Given the description of an element on the screen output the (x, y) to click on. 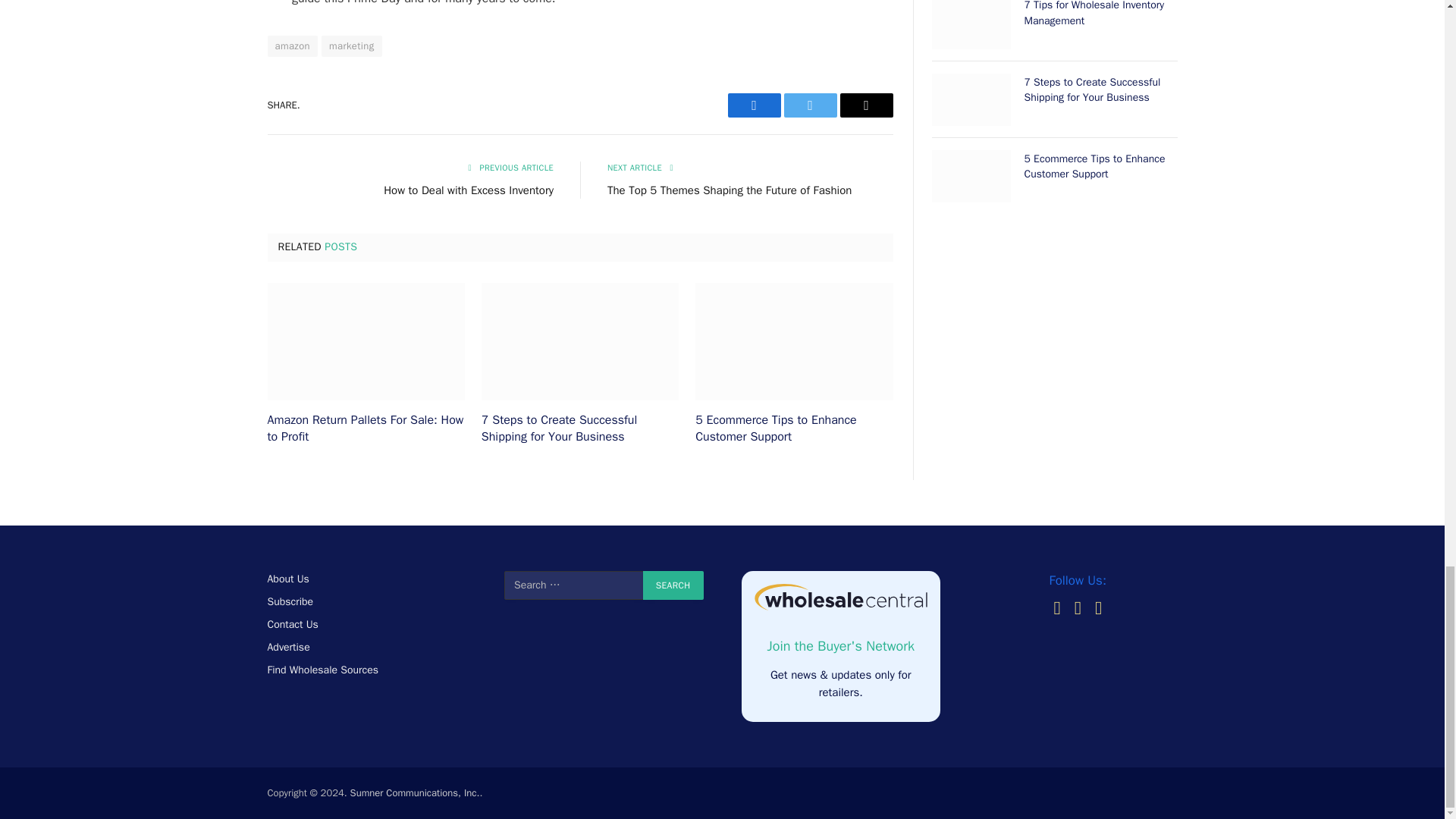
5 Ecommerce Tips to Enhance Customer Support (793, 341)
Share on Facebook (754, 105)
Search (673, 584)
Share via Email (866, 105)
7 Steps to Create Successful Shipping for Your Business (579, 341)
Search (673, 584)
Amazon Return Pallets For Sale: How to Profit (365, 341)
